Given the description of an element on the screen output the (x, y) to click on. 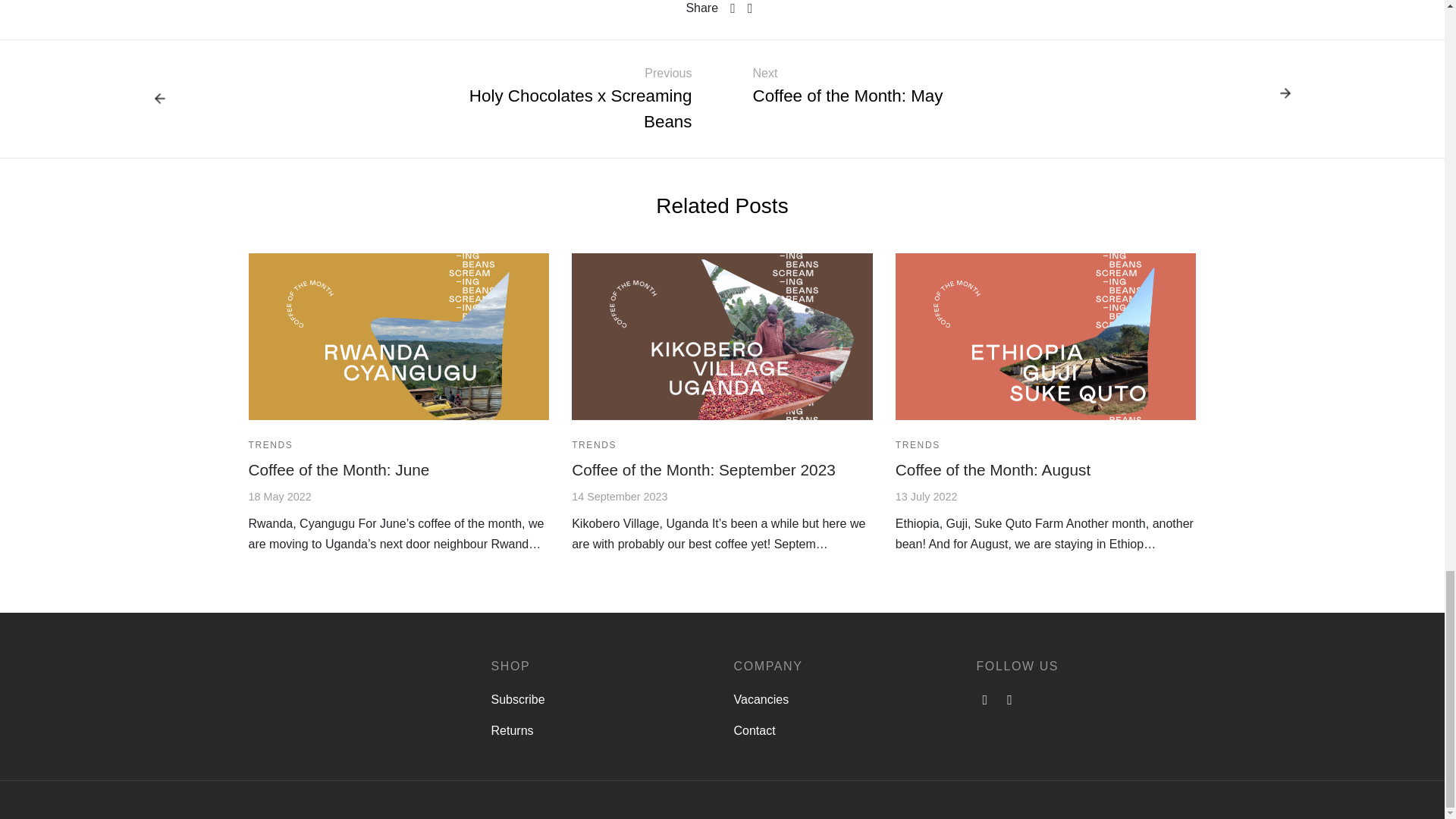
18 May 2022 (279, 496)
Coffee of the Month: June (338, 469)
Coffee of the Month: September 2023 (361, 98)
facebook (722, 336)
Contact (985, 699)
instagram (754, 730)
Returns (1009, 699)
Coffee of the Month: August (513, 730)
Subscribe (992, 469)
14 September 2023 (518, 699)
Coffee of the Month: June (619, 496)
Coffee of the Month: September 2023 (399, 336)
Coffee of the Month: August (703, 469)
Coffee of the Month: August (1045, 336)
